Given the description of an element on the screen output the (x, y) to click on. 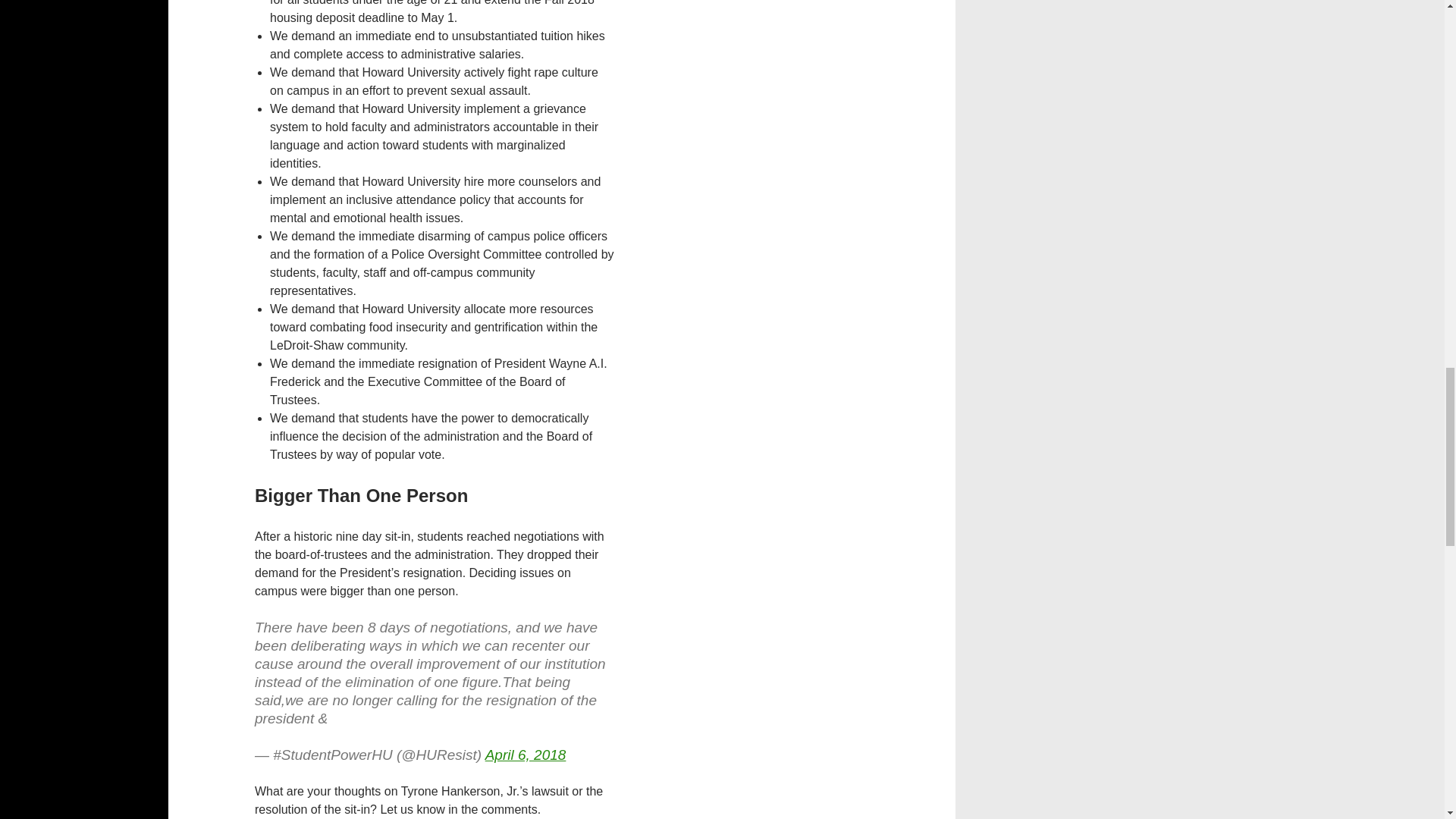
April 6, 2018 (525, 754)
